Given the description of an element on the screen output the (x, y) to click on. 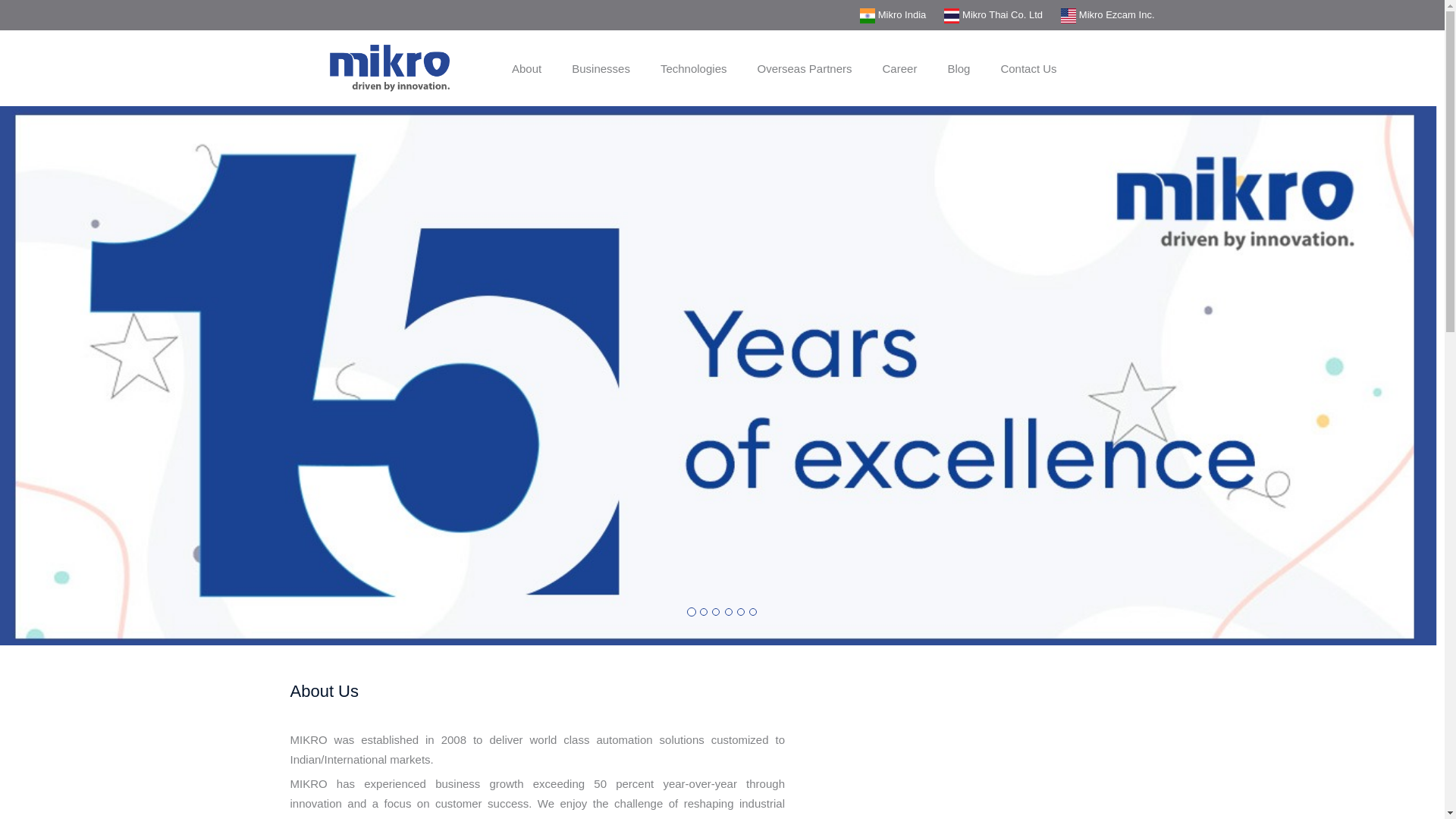
Technologies (693, 72)
Mikro Ezcam Inc. (1107, 14)
About (526, 72)
Mikro Thai Co. Ltd (992, 14)
Overseas Partners (804, 72)
Contact Us (1028, 72)
Career (899, 72)
Blog (958, 72)
Businesses (601, 72)
Mikro India (893, 14)
